Given the description of an element on the screen output the (x, y) to click on. 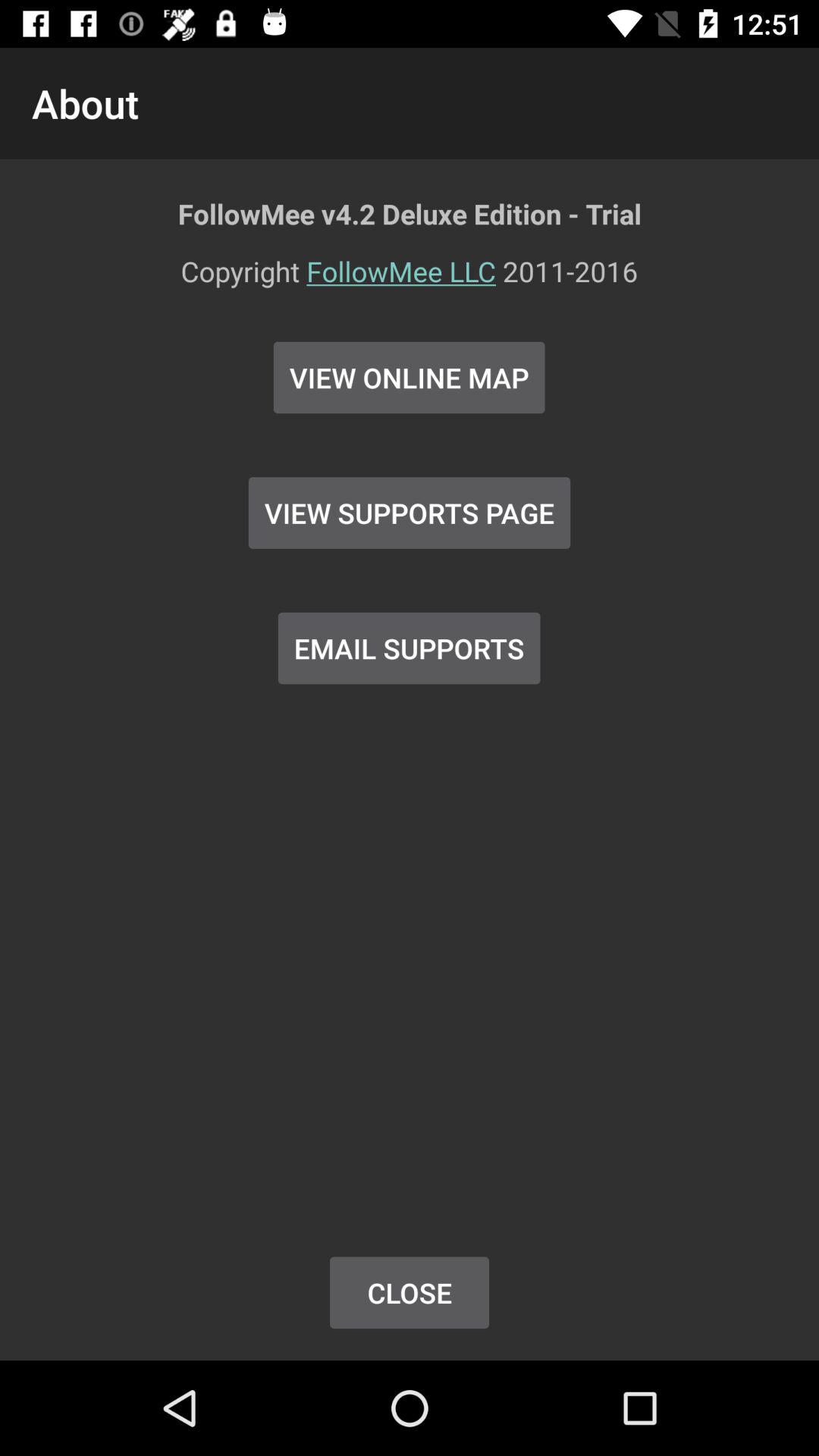
press item above close item (409, 648)
